Given the description of an element on the screen output the (x, y) to click on. 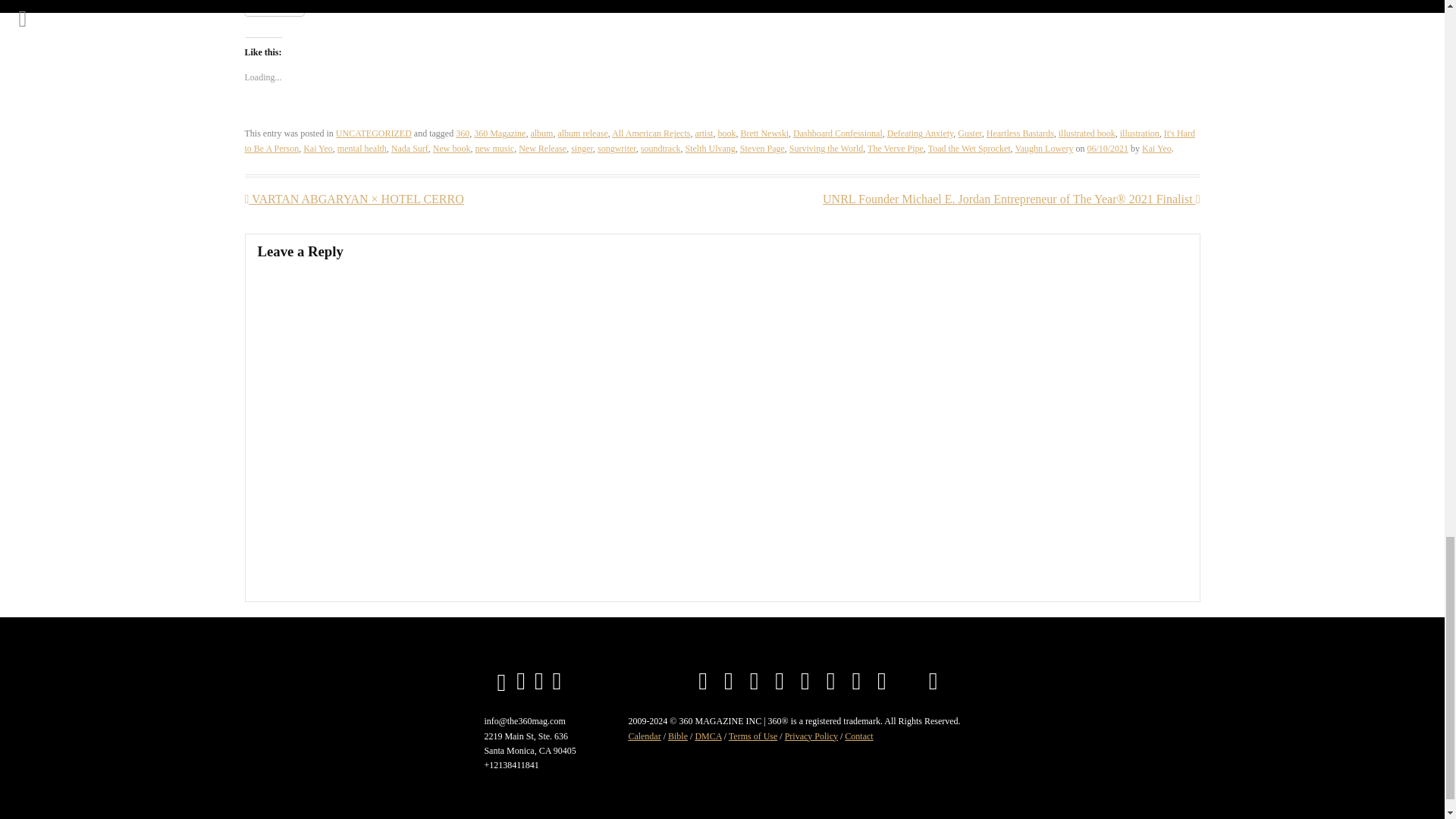
View all posts by Kai Yeo (1156, 148)
1:51 pm (1107, 148)
